Given the description of an element on the screen output the (x, y) to click on. 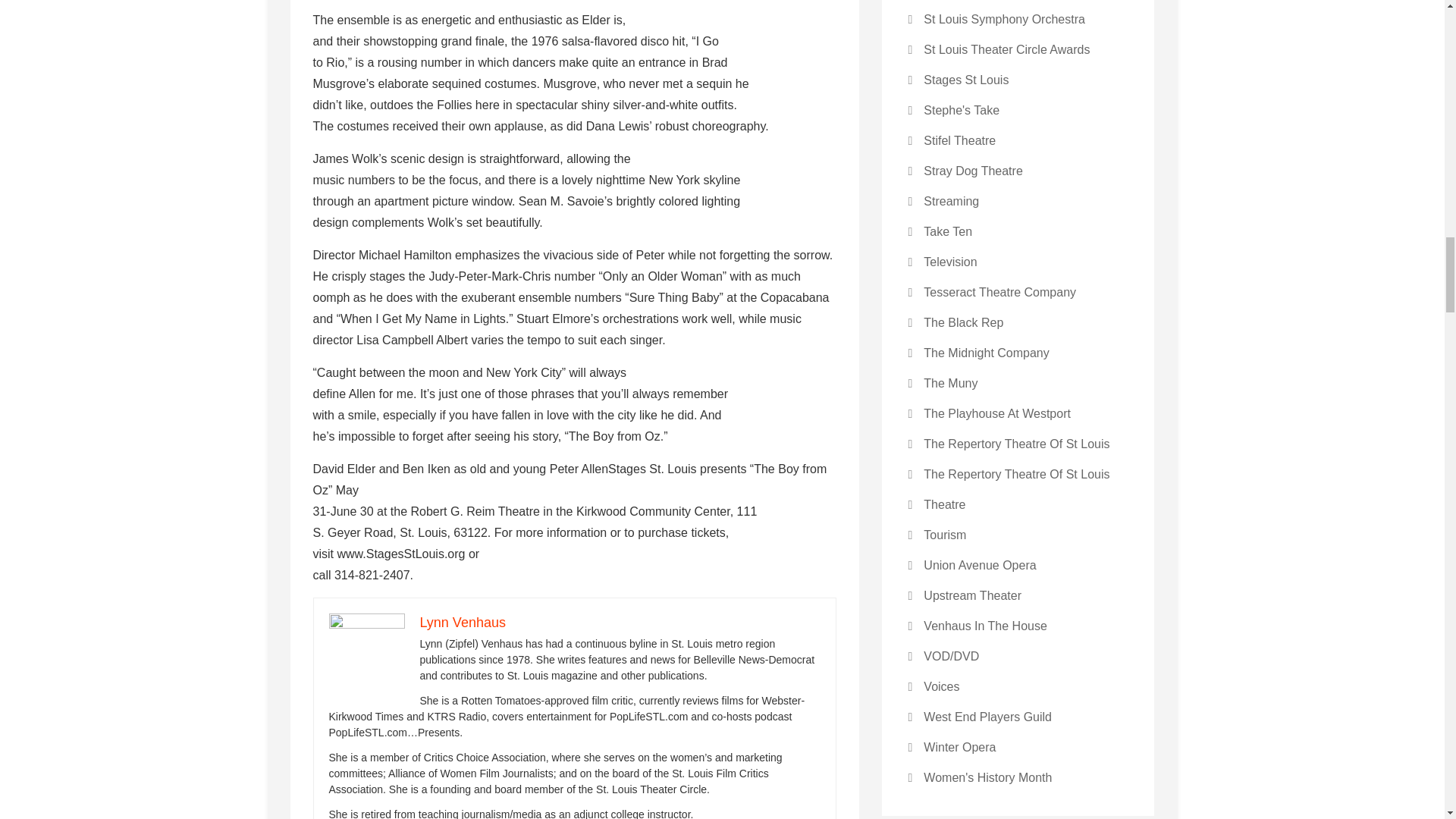
Lynn Venhaus (462, 622)
